Given the description of an element on the screen output the (x, y) to click on. 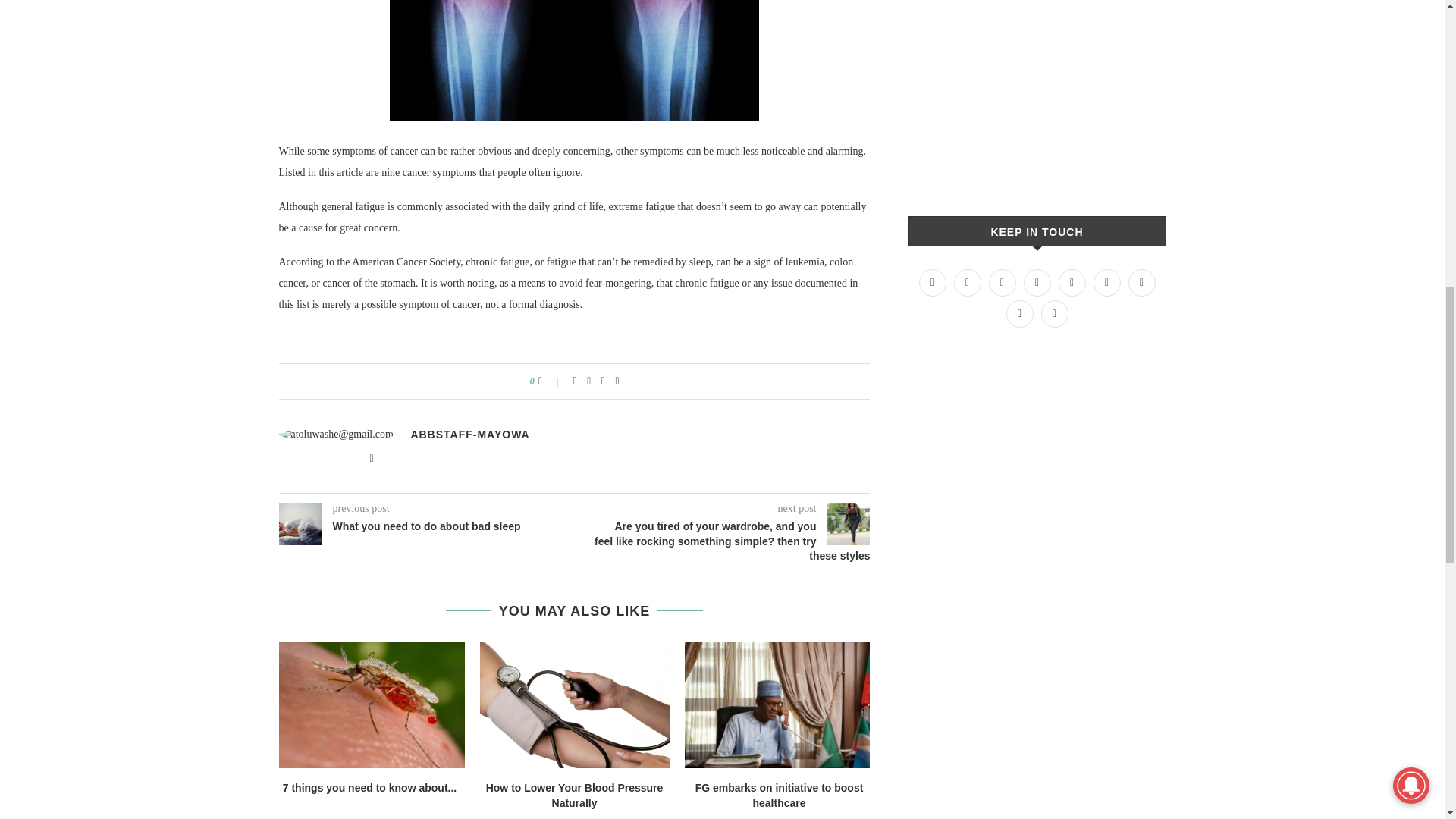
Like (550, 381)
Posts by ABBStaff-Mayowa (469, 434)
